Given the description of an element on the screen output the (x, y) to click on. 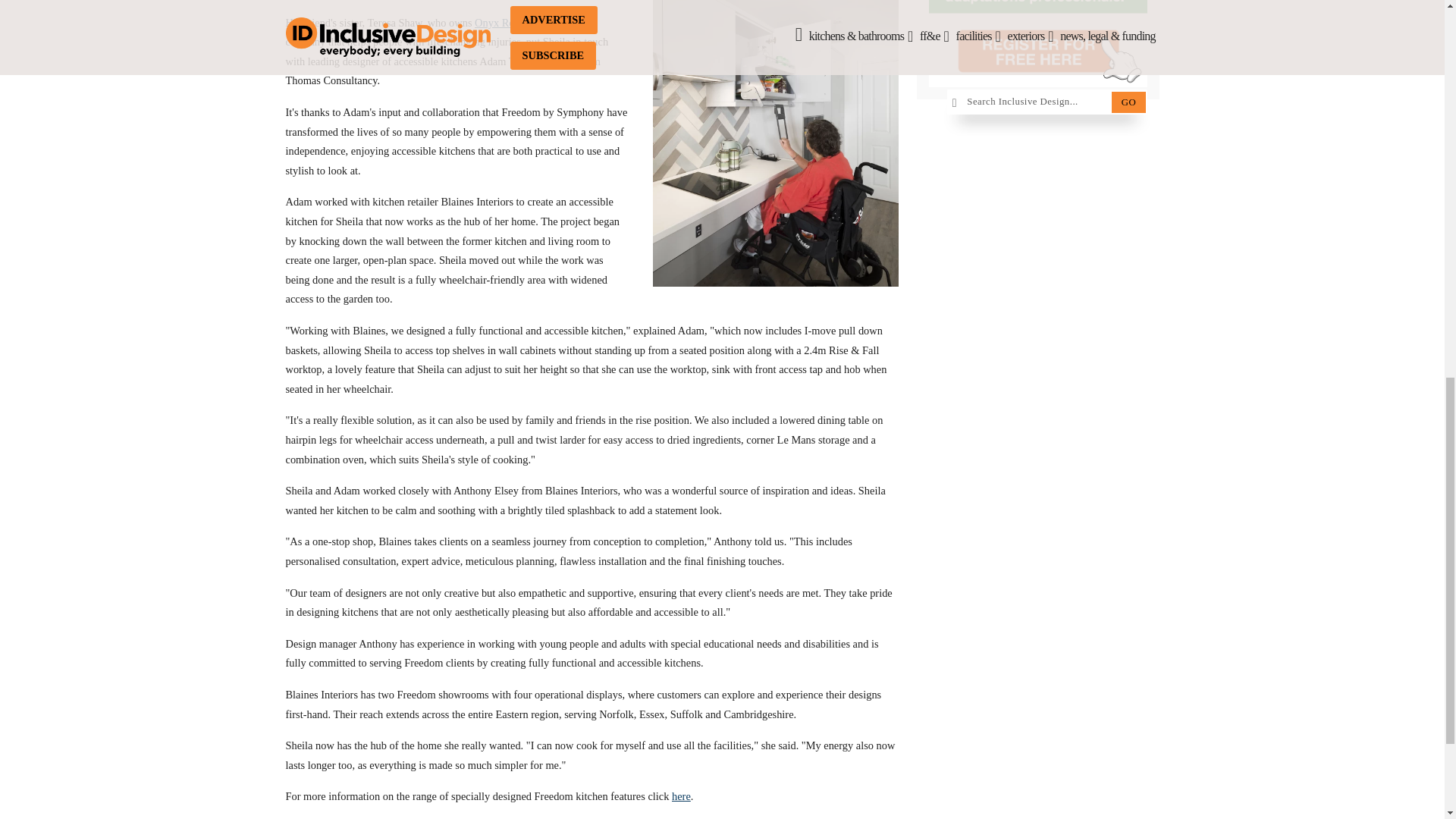
here (680, 796)
Onyx Rehabilitation Ltd (527, 22)
